Given the description of an element on the screen output the (x, y) to click on. 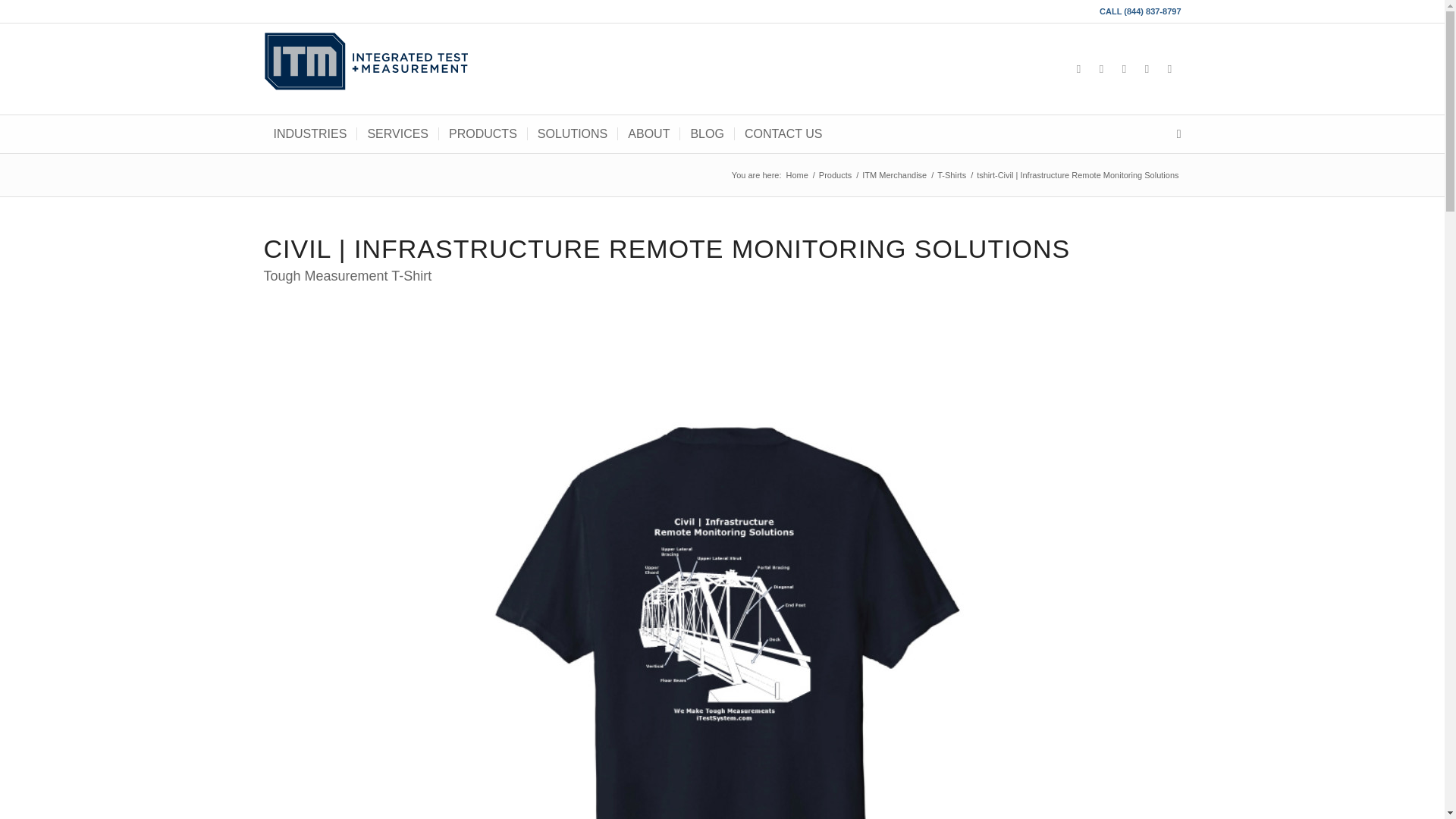
Facebook (1169, 68)
SERVICES (397, 134)
ITM Merchandise (894, 174)
Twitter (1101, 68)
ITM (797, 174)
INDUSTRIES (309, 134)
Products (834, 174)
Mail (1146, 68)
PRODUCTS (482, 134)
